Given the description of an element on the screen output the (x, y) to click on. 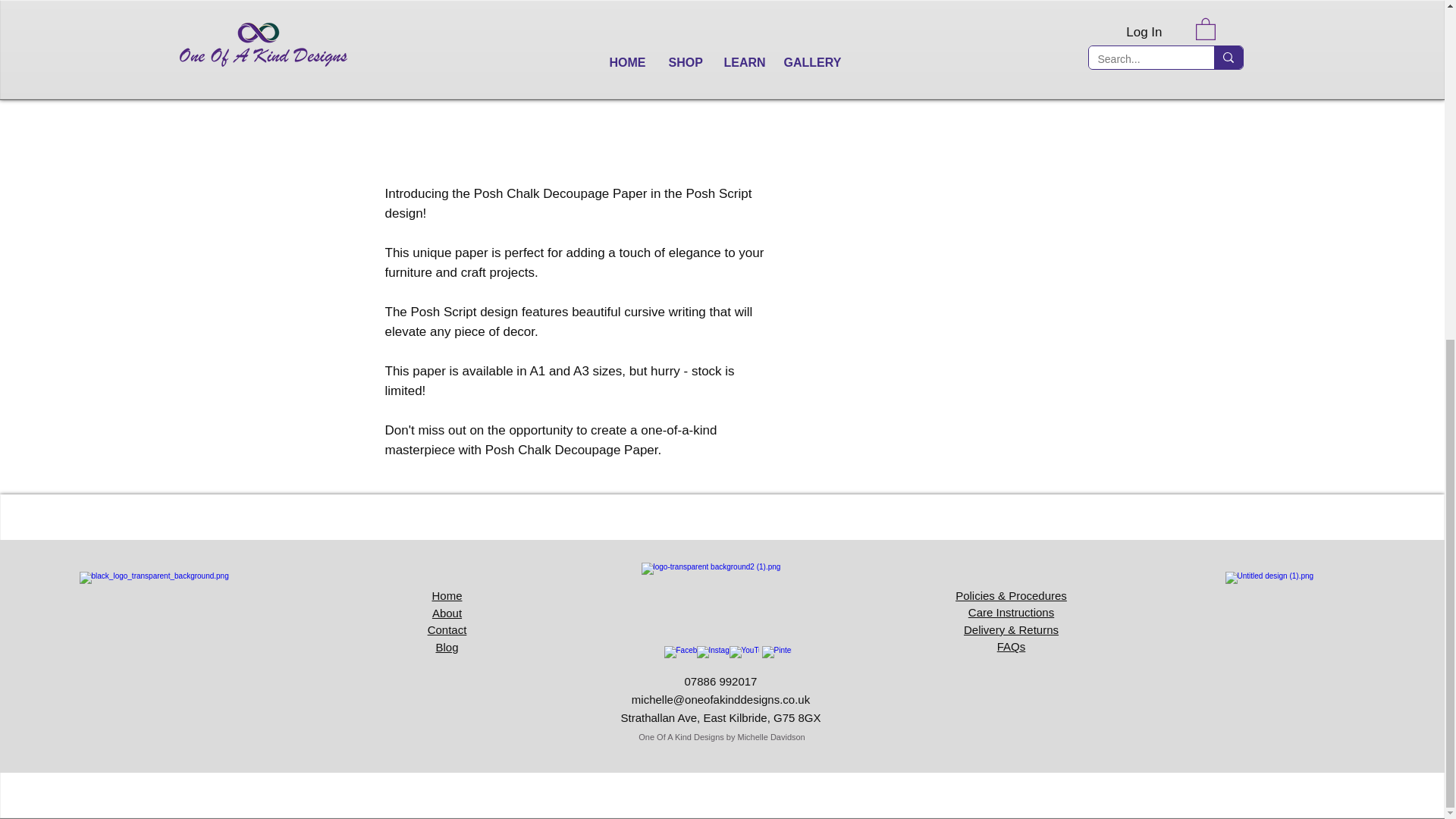
Contact (447, 629)
Blog (446, 646)
Home (445, 594)
About (446, 612)
FAQs (1011, 645)
Care Instructions (1011, 612)
